Given the description of an element on the screen output the (x, y) to click on. 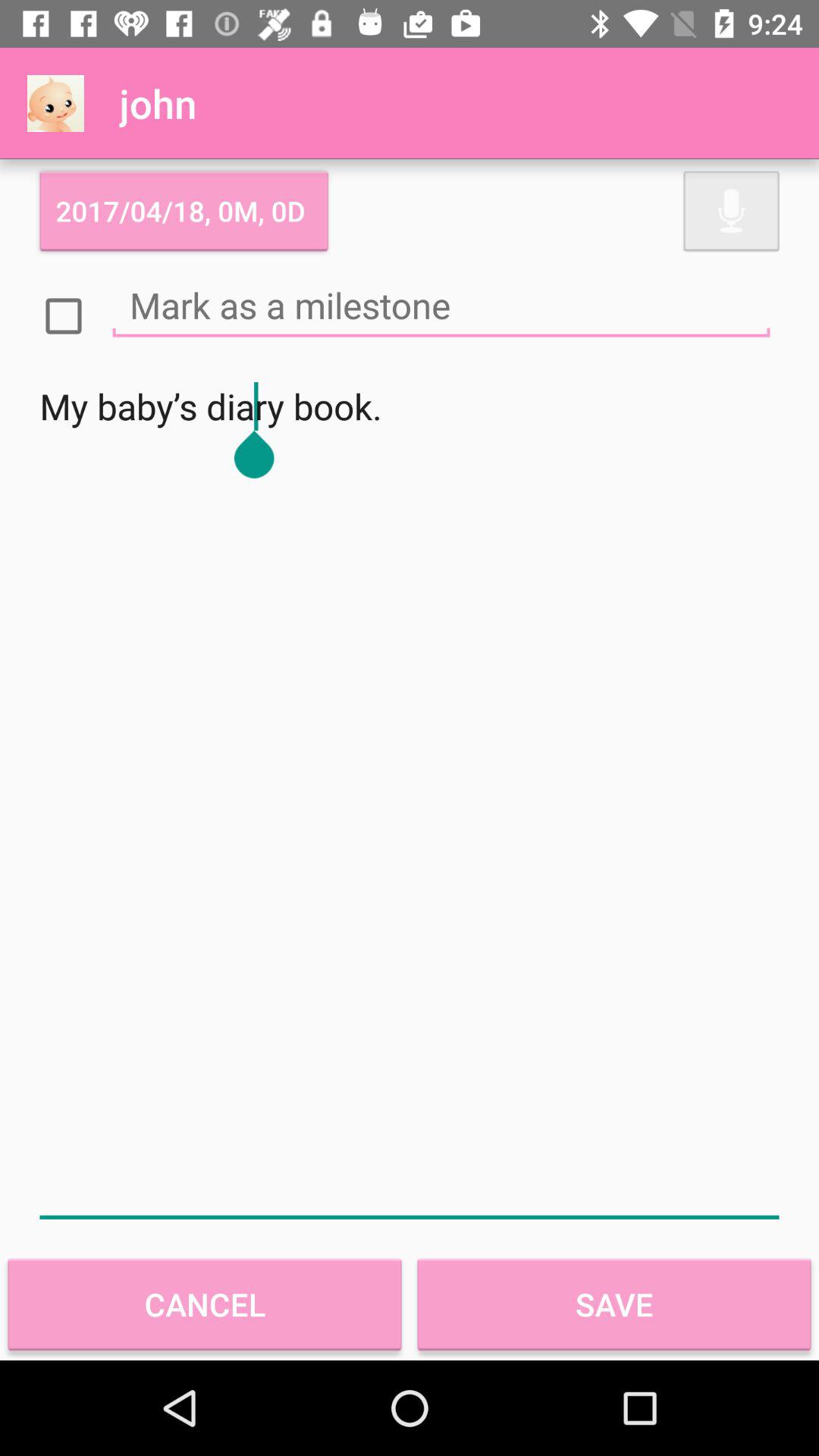
select the icon next to the 2017 04 18 item (731, 210)
